Given the description of an element on the screen output the (x, y) to click on. 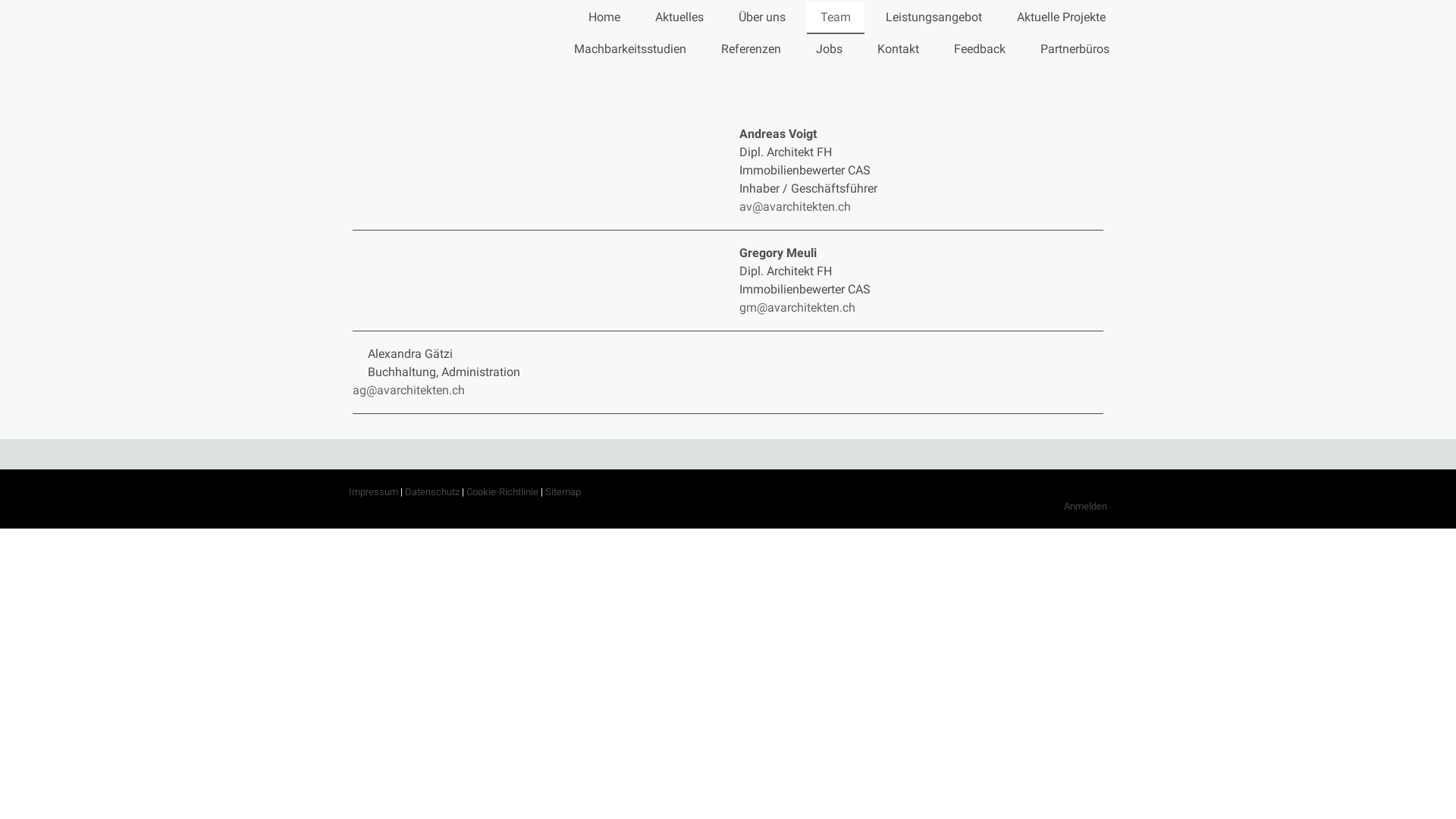
ag@avarchitekten.ch Element type: text (408, 389)
Kontakt Element type: text (897, 49)
gm@avarchitekten.ch  Element type: text (798, 307)
Home Element type: text (603, 18)
Impressum Element type: text (373, 491)
Jobs Element type: text (829, 49)
Feedback Element type: text (979, 49)
Datenschutz Element type: text (431, 491)
Machbarkeitsstudien Element type: text (629, 49)
Aktuelle Projekte Element type: text (1061, 18)
Aktuelles Element type: text (679, 18)
Sitemap Element type: text (562, 491)
Referenzen Element type: text (750, 49)
Cookie-Richtlinie Element type: text (502, 491)
av@avarchitekten.ch   Element type: text (797, 206)
Anmelden Element type: text (1085, 505)
Leistungsangebot Element type: text (933, 18)
Team Element type: text (835, 18)
